Given the description of an element on the screen output the (x, y) to click on. 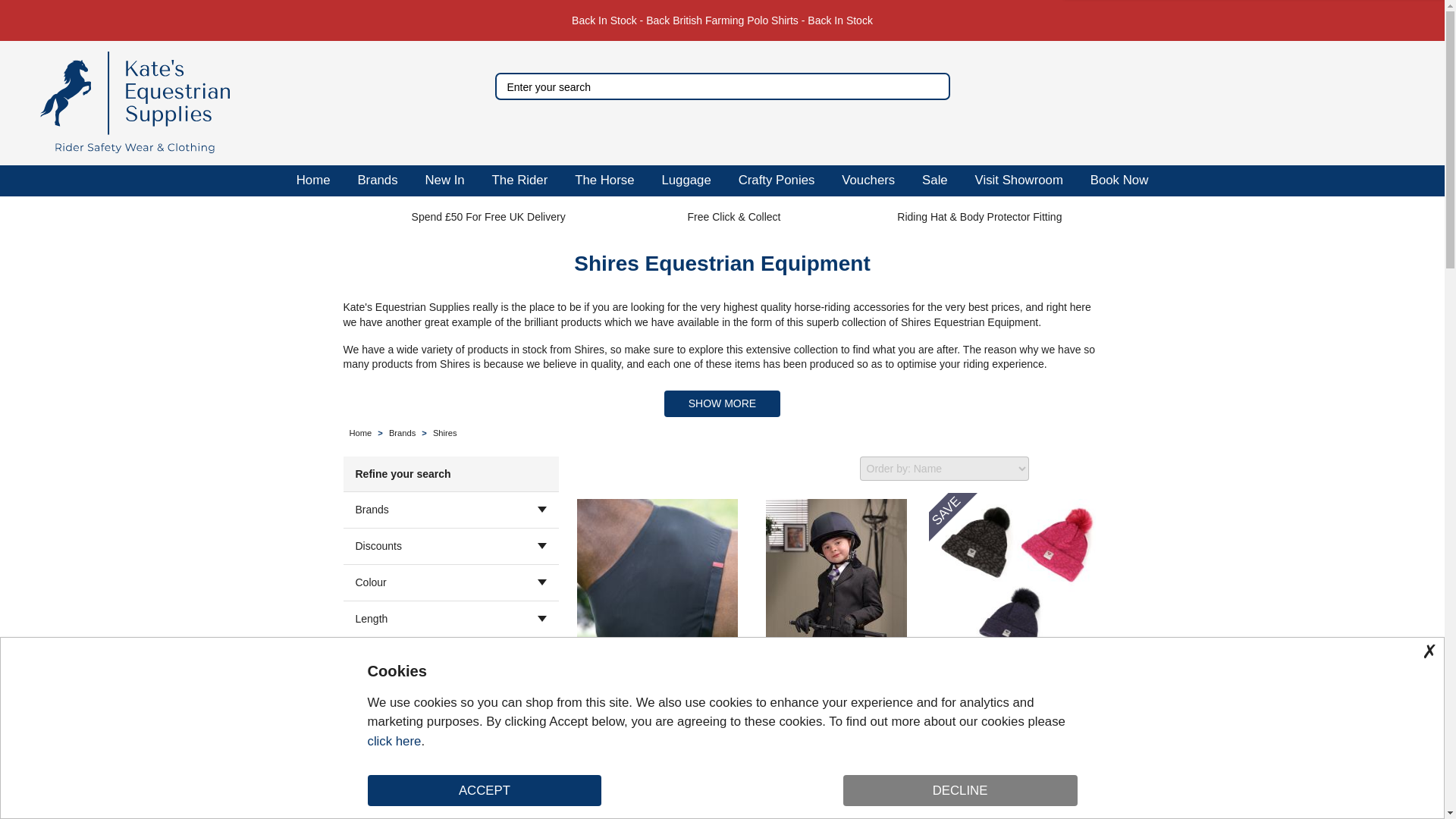
Brands (377, 180)
Customer reviews powered by Trustpilot (722, 124)
Contact (1329, 103)
Home (312, 180)
List view (1088, 468)
Search (933, 85)
Account (1362, 103)
Search (933, 85)
Thumbnail view (1052, 468)
